Given the description of an element on the screen output the (x, y) to click on. 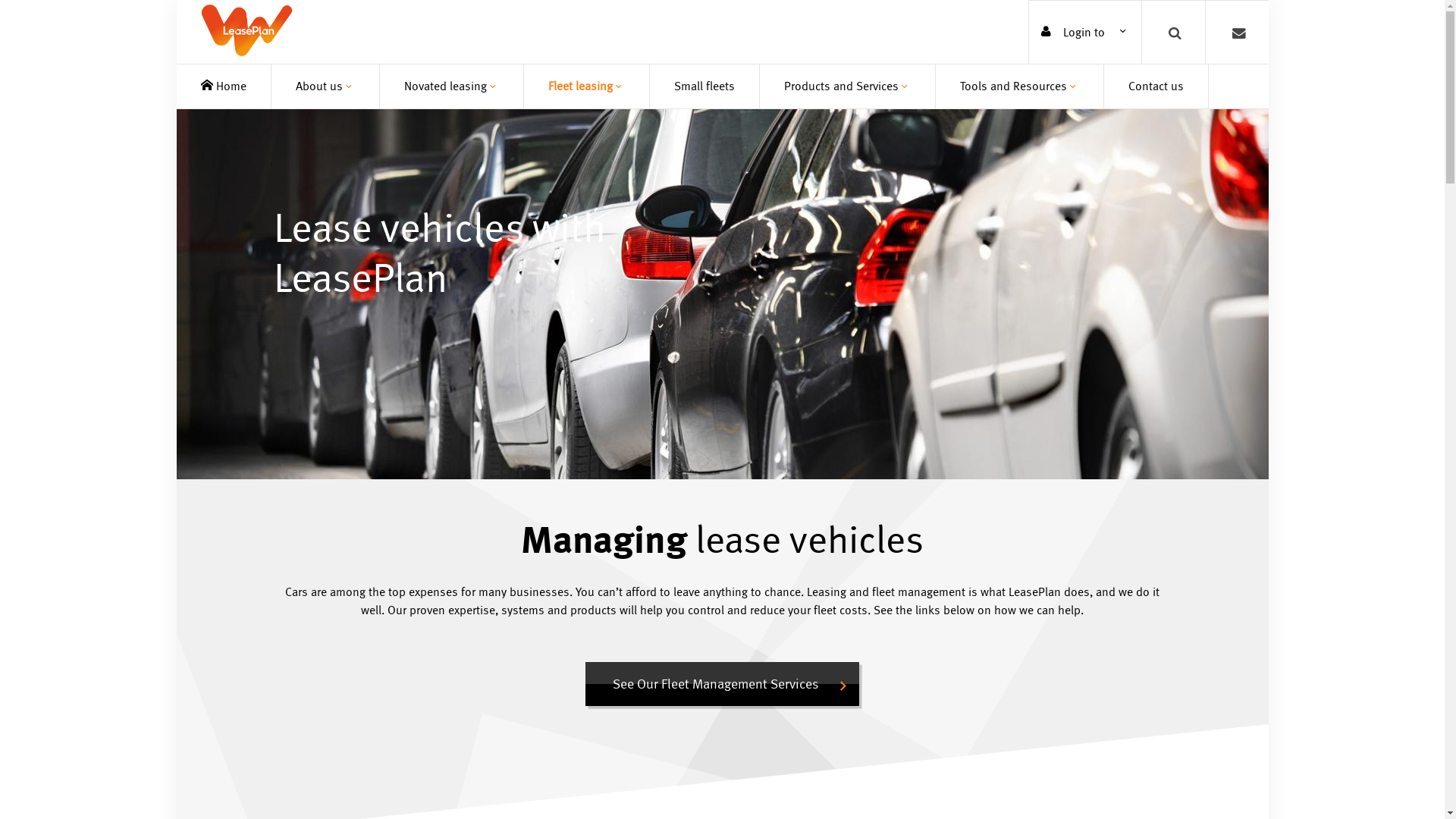
Home Element type: text (222, 86)
Fleet leasing Element type: text (585, 86)
Home Element type: hover (245, 31)
Tools and Resources Element type: text (1019, 86)
See Our Fleet Management Services Element type: text (722, 684)
Small fleets Element type: text (703, 86)
Products and Services Element type: text (847, 86)
Novated leasing Element type: text (450, 86)
Contact us Element type: text (1156, 86)
About us Element type: text (325, 86)
